Given the description of an element on the screen output the (x, y) to click on. 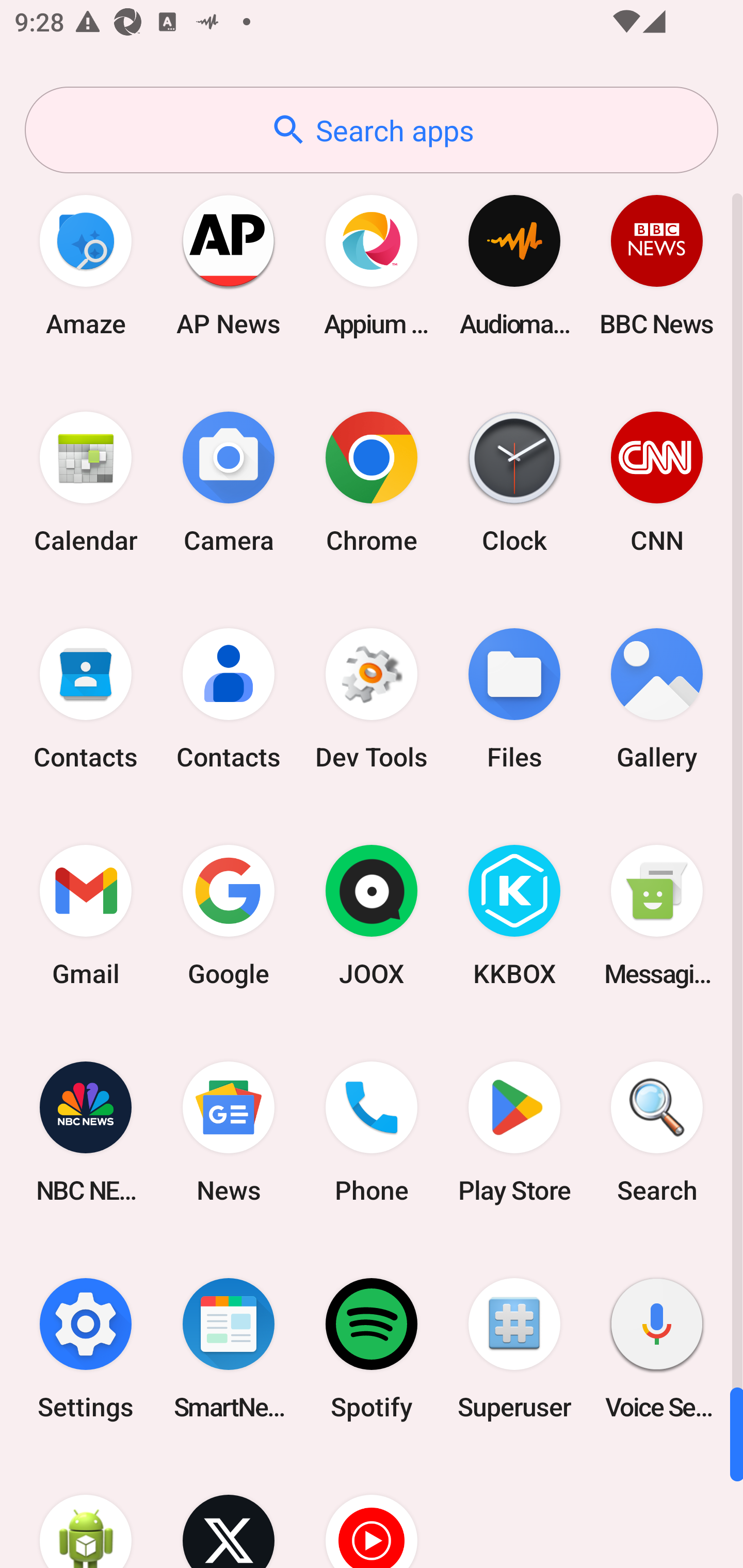
  Search apps (371, 130)
Amaze (85, 264)
AP News (228, 264)
Appium Settings (371, 264)
Audio­mack (514, 264)
BBC News (656, 264)
Calendar (85, 482)
Camera (228, 482)
Chrome (371, 482)
Clock (514, 482)
CNN (656, 482)
Contacts (85, 699)
Contacts (228, 699)
Dev Tools (371, 699)
Files (514, 699)
Gallery (656, 699)
Gmail (85, 915)
Google (228, 915)
JOOX (371, 915)
KKBOX (514, 915)
Messaging (656, 915)
NBC NEWS (85, 1131)
News (228, 1131)
Phone (371, 1131)
Play Store (514, 1131)
Search (656, 1131)
Settings (85, 1348)
SmartNews (228, 1348)
Spotify (371, 1348)
Superuser (514, 1348)
Voice Search (656, 1348)
